Given the description of an element on the screen output the (x, y) to click on. 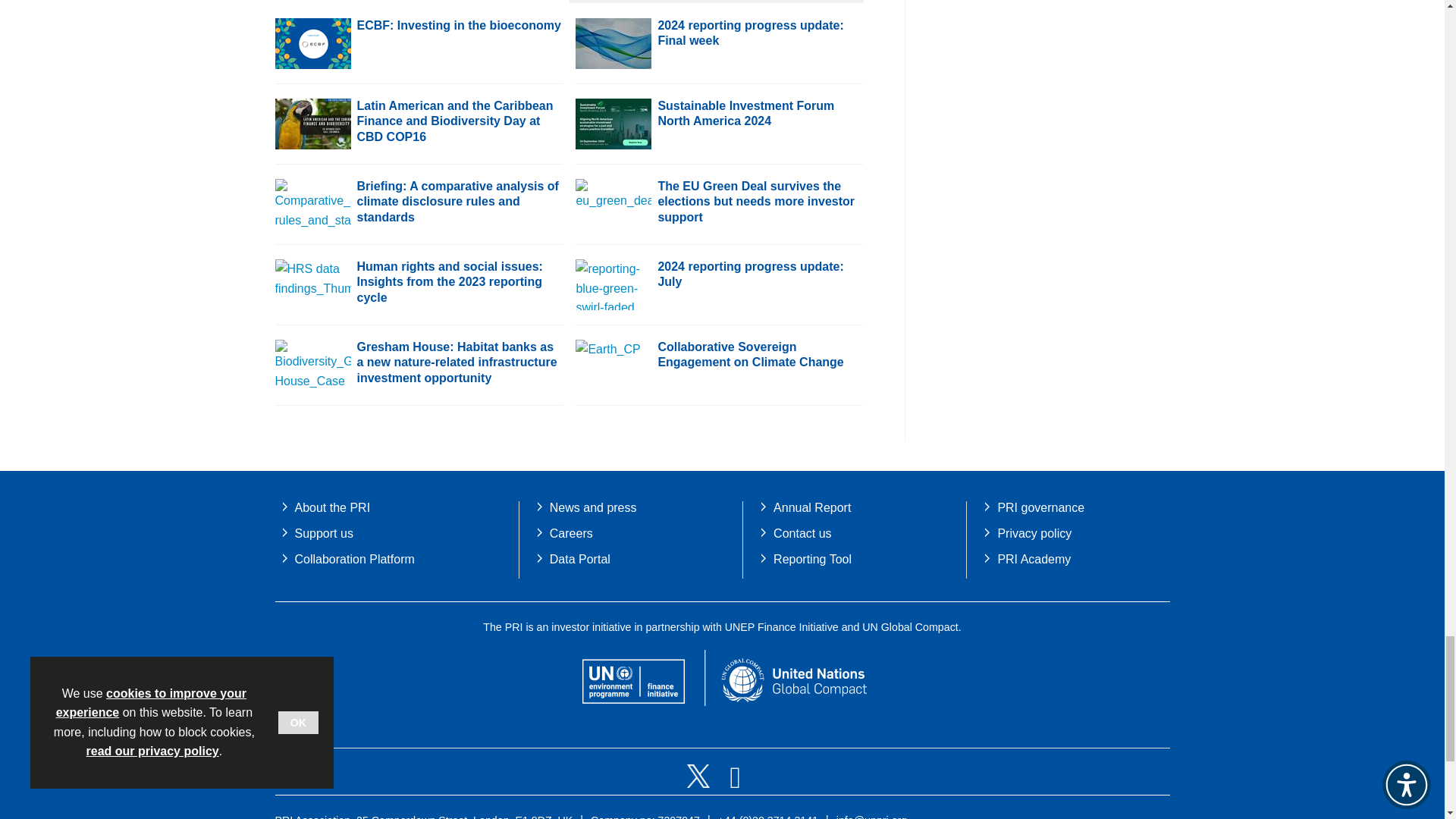
Follow PRI on LinkedIn (735, 783)
Follow PRI on Twitter (700, 783)
